Given the description of an element on the screen output the (x, y) to click on. 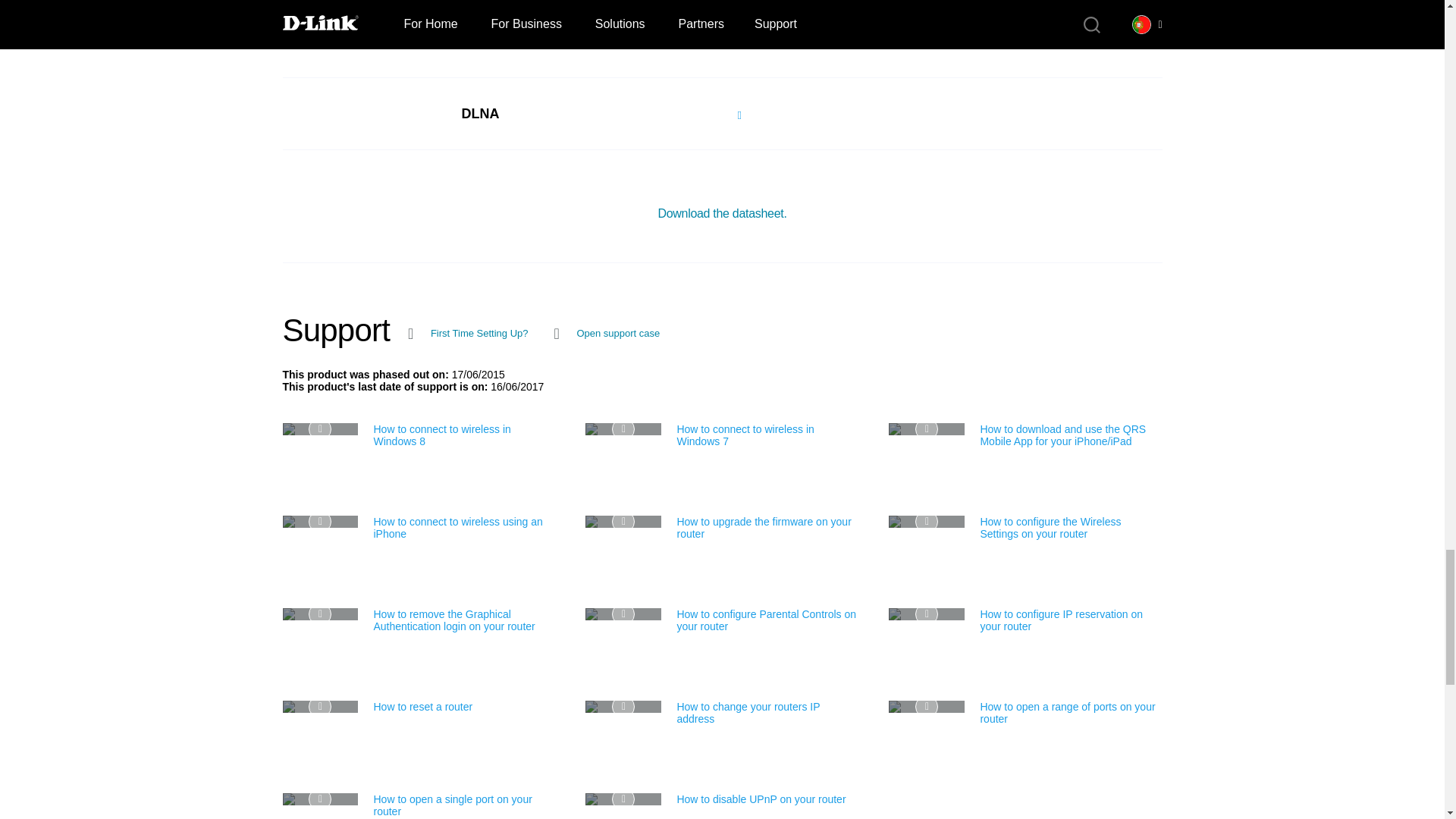
Download the datasheet. (722, 213)
